Given the description of an element on the screen output the (x, y) to click on. 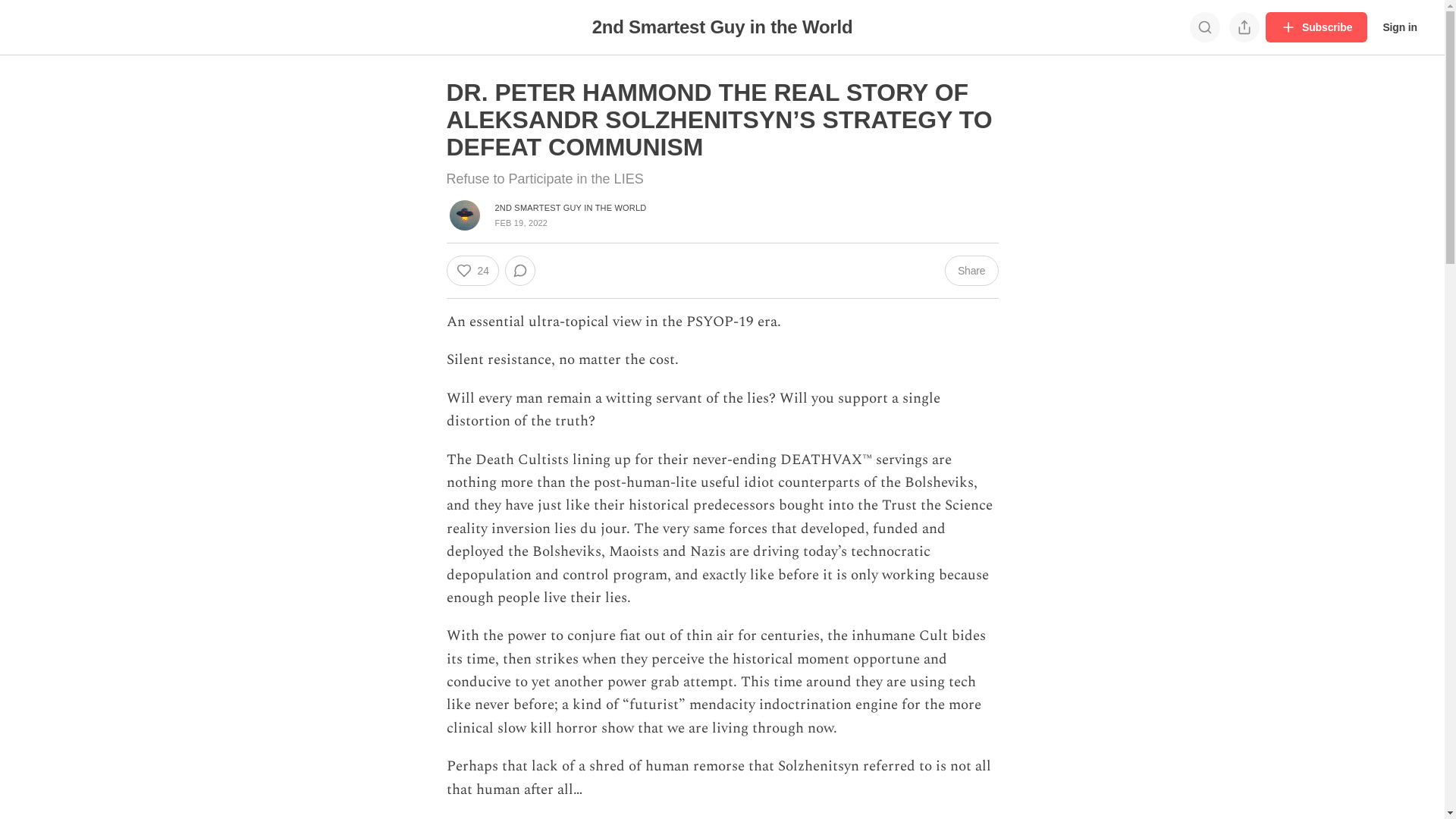
2nd Smartest Guy in the World Element type: text (722, 26)
Share Element type: text (971, 270)
2ND SMARTEST GUY IN THE WORLD Element type: text (570, 207)
24 Element type: text (471, 270)
Subscribe Element type: text (1316, 27)
Sign in Element type: text (1399, 27)
